Given the description of an element on the screen output the (x, y) to click on. 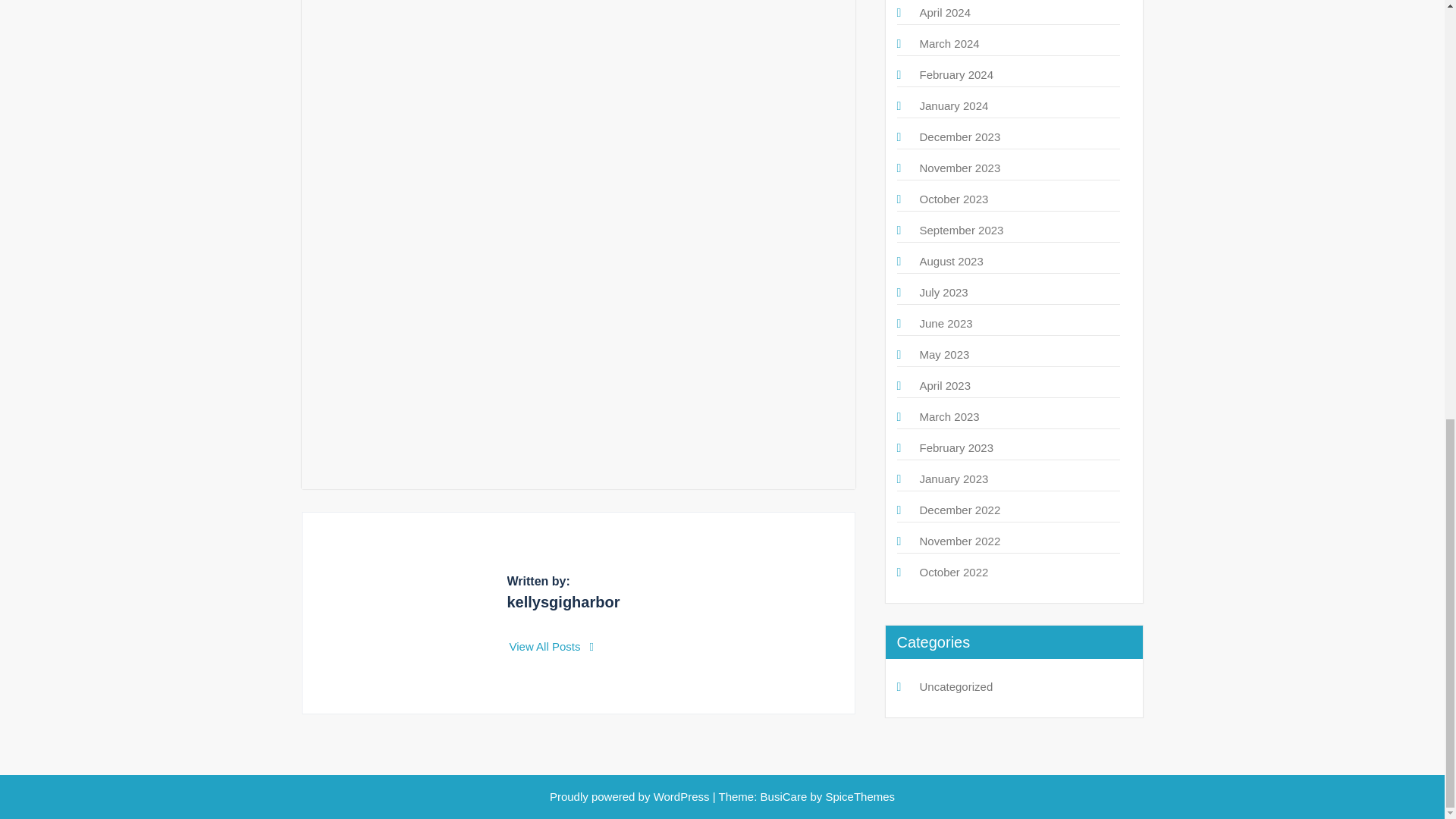
April 2024 (944, 11)
March 2023 (948, 416)
May 2023 (943, 354)
January 2024 (953, 105)
Uncategorized (955, 686)
December 2022 (959, 509)
December 2023 (959, 136)
November 2023 (959, 167)
October 2023 (953, 198)
February 2023 (955, 447)
